Given the description of an element on the screen output the (x, y) to click on. 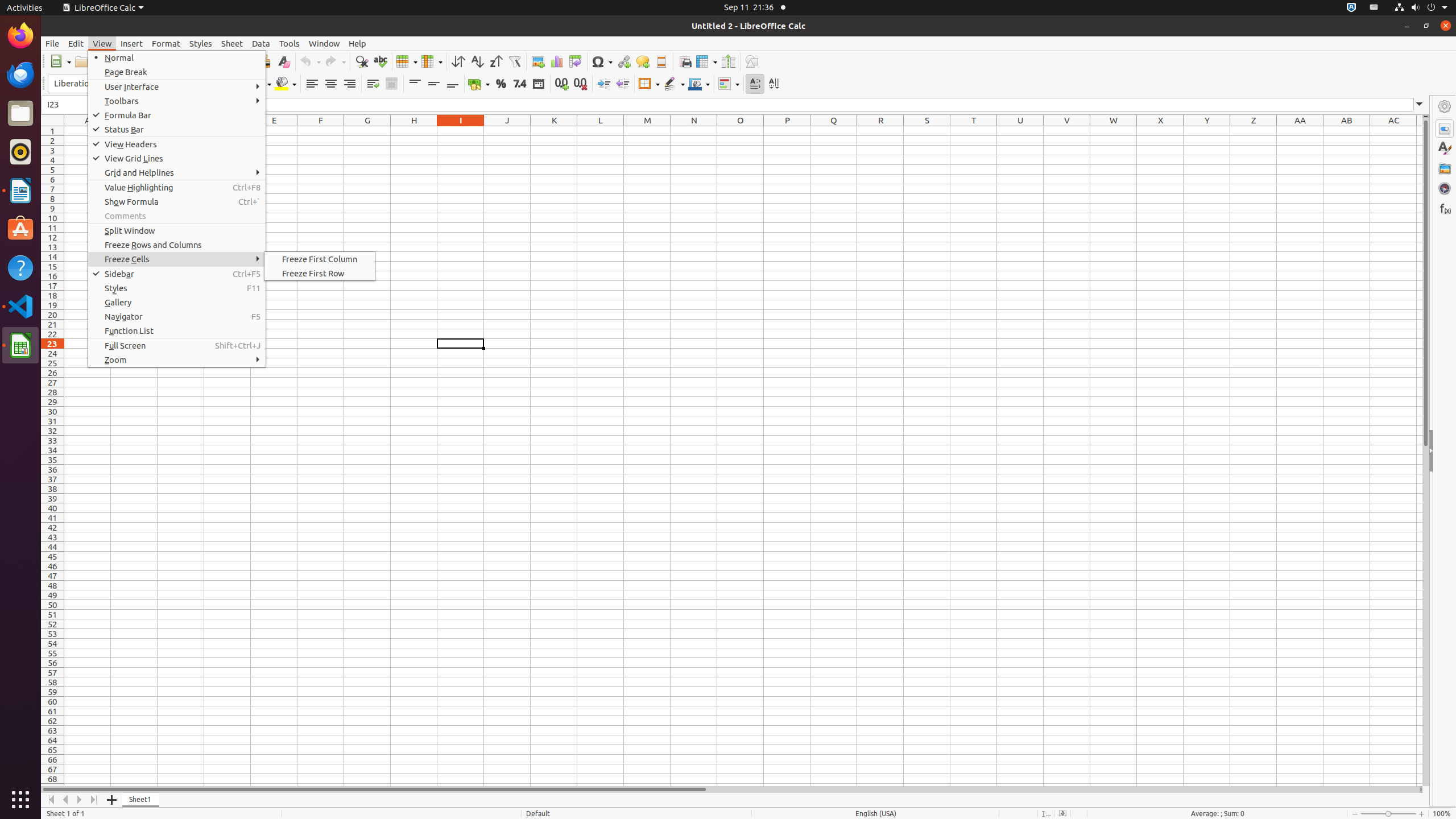
AA1 Element type: table-cell (1299, 130)
Align Bottom Element type: push-button (452, 83)
Decrease Element type: push-button (622, 83)
Functions Element type: radio-button (1444, 208)
Pivot Table Element type: push-button (574, 61)
